Given the description of an element on the screen output the (x, y) to click on. 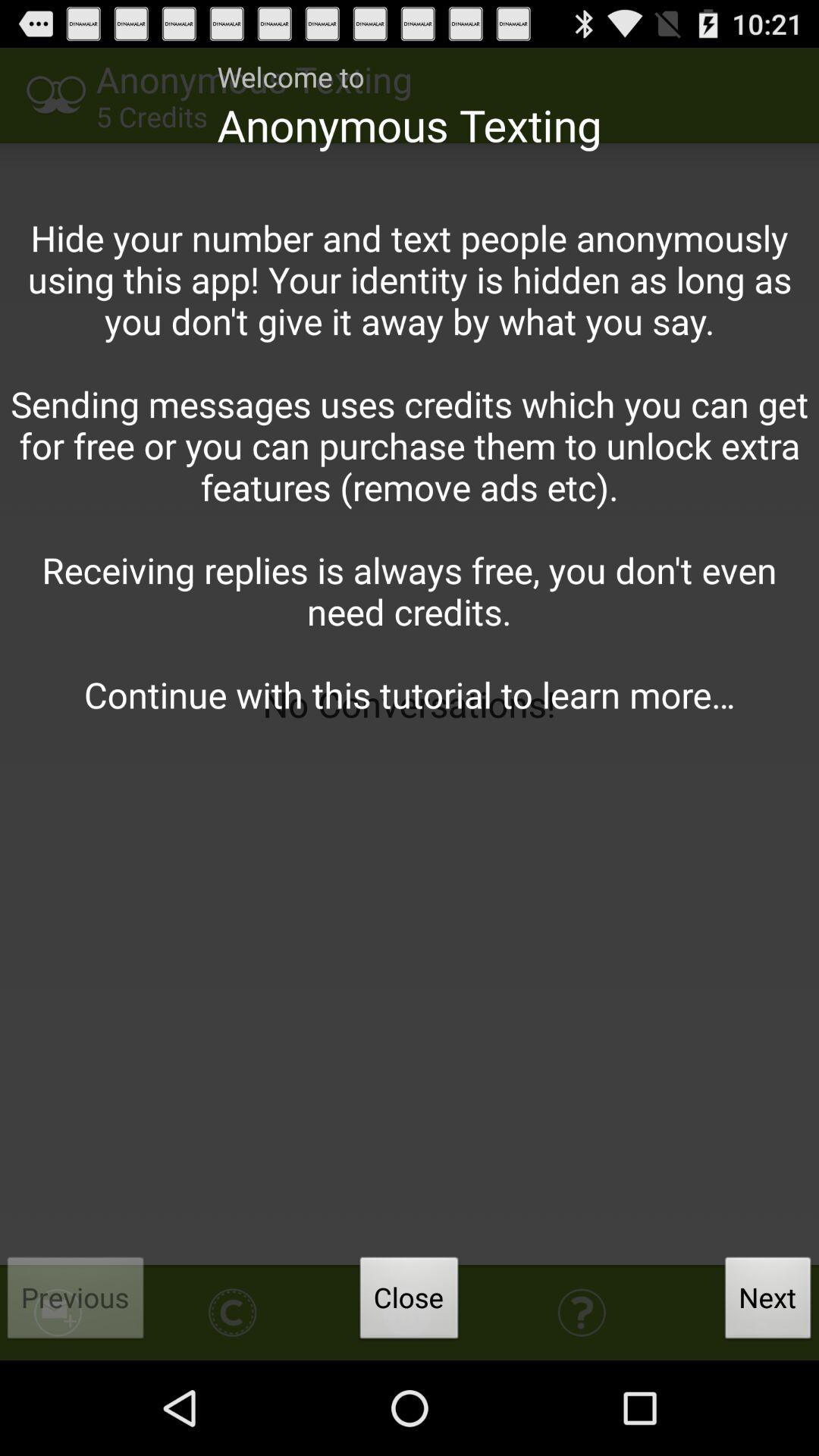
tap the close button (409, 1302)
